Given the description of an element on the screen output the (x, y) to click on. 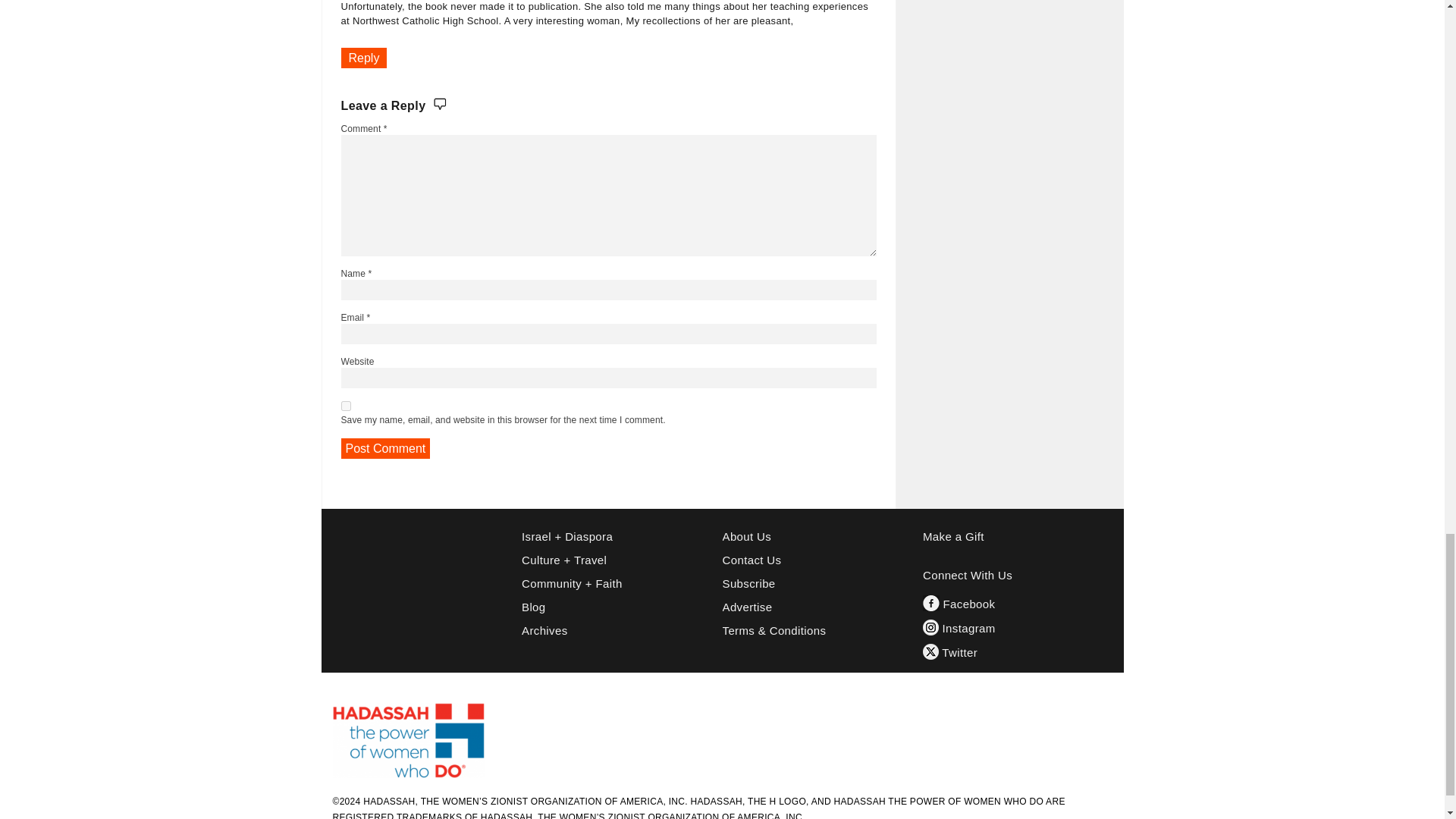
Post Comment (385, 448)
yes (345, 406)
